Given the description of an element on the screen output the (x, y) to click on. 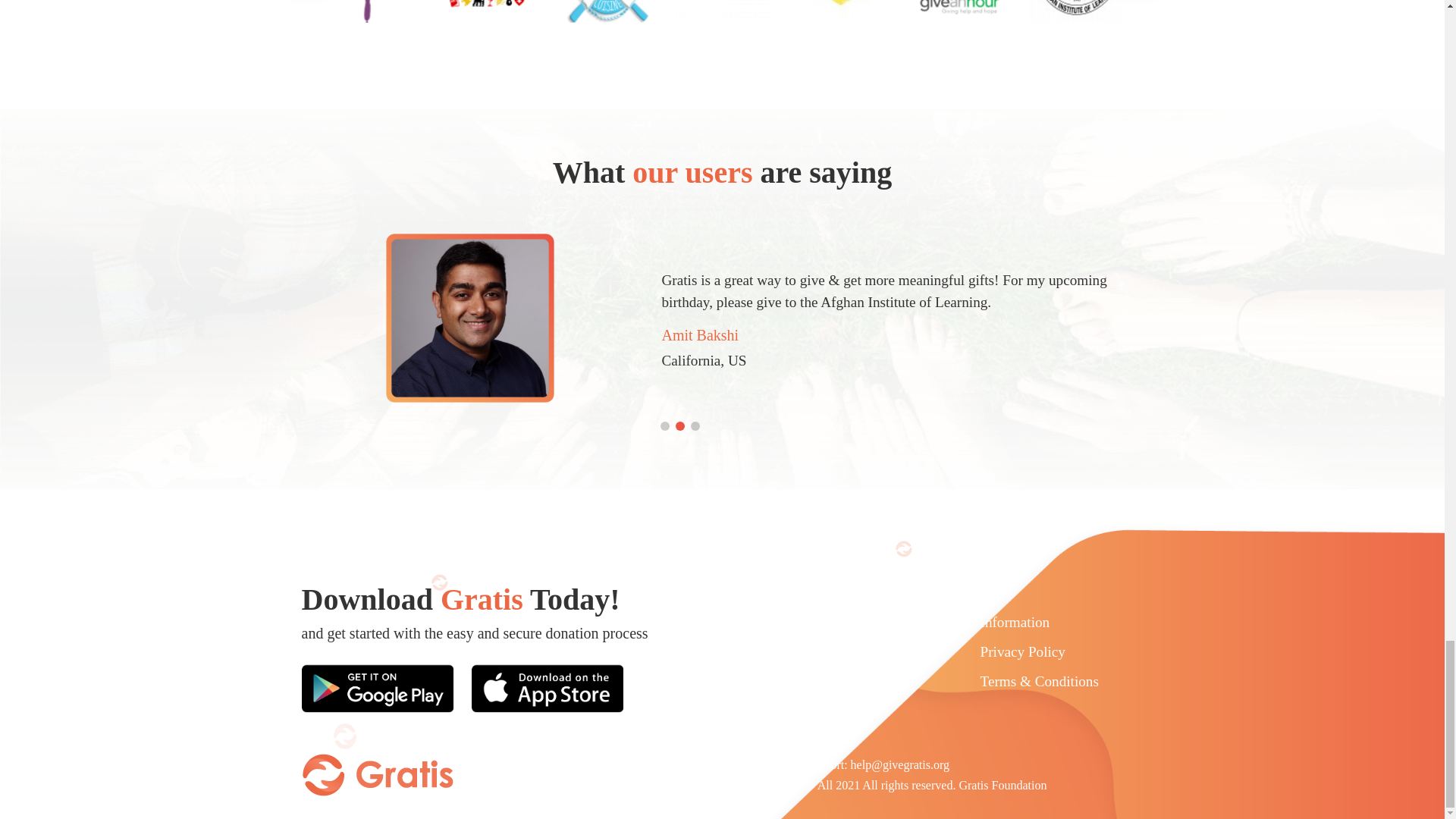
Privacy Policy (1021, 653)
Information (1014, 624)
